Given the description of an element on the screen output the (x, y) to click on. 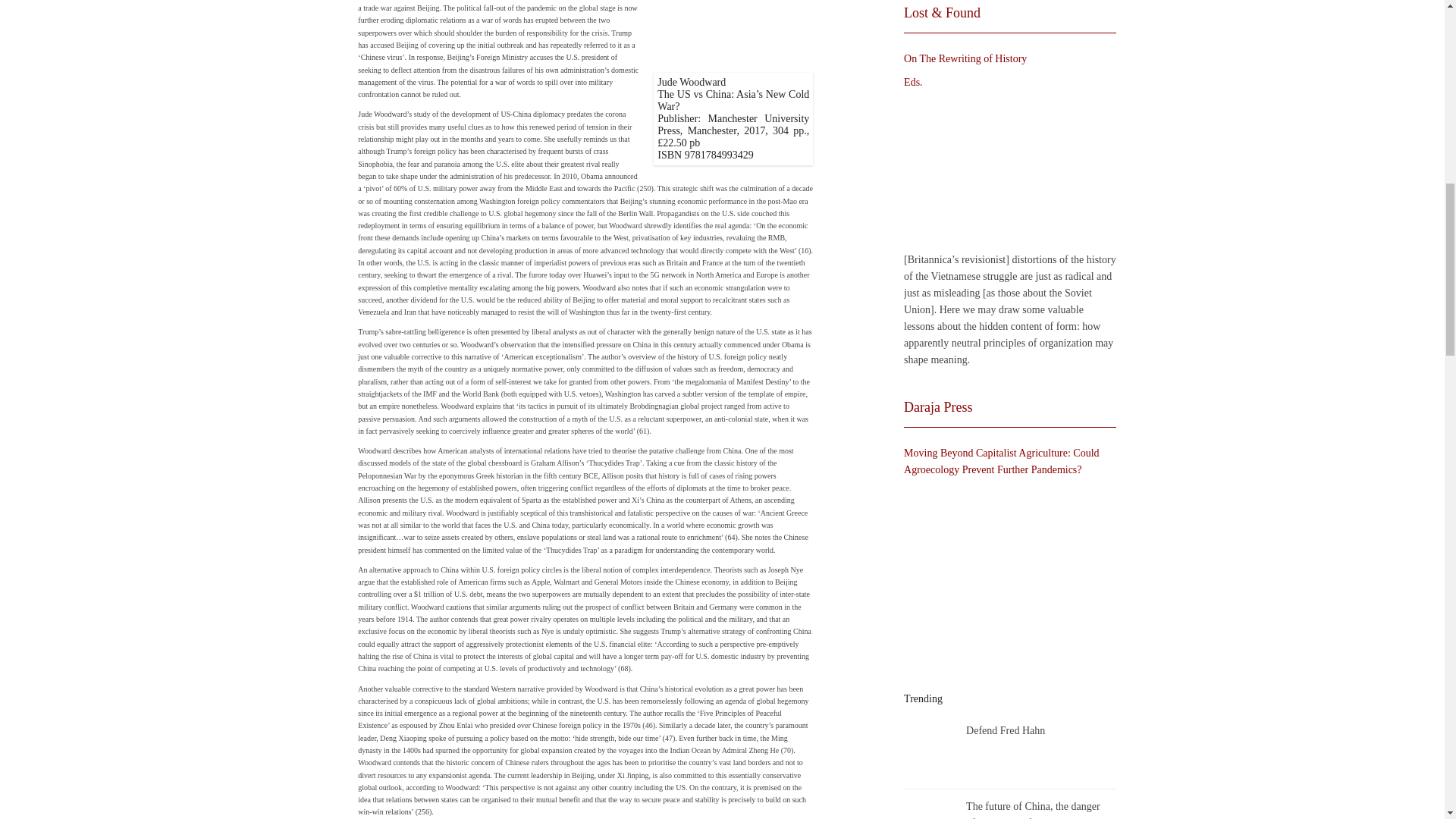
On The Rewriting of History (1006, 171)
Posts by Eds. (913, 82)
